Given the description of an element on the screen output the (x, y) to click on. 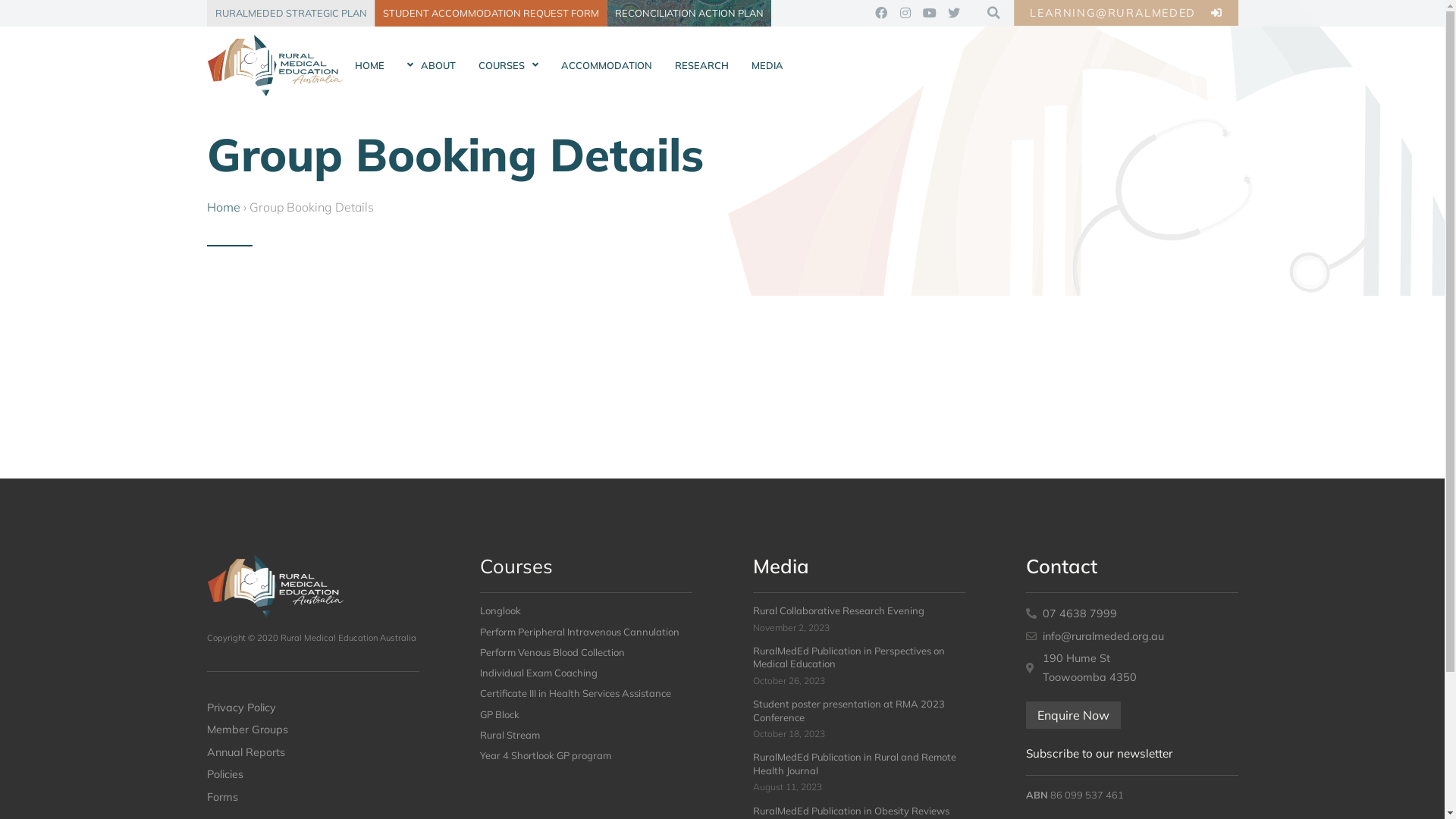
Rural Collaborative Research Evening Element type: text (837, 610)
info@ruralmeded.org.au Element type: text (1131, 636)
190 Hume St
Toowoomba 4350 Element type: text (1131, 667)
Student poster presentation at RMA 2023 Conference Element type: text (848, 709)
Perform Venous Blood Collection Element type: text (551, 652)
RESEARCH Element type: text (700, 65)
Courses Element type: text (515, 565)
RuralMedEd Publication in Obesity Reviews Element type: text (850, 810)
Individual Exam Coaching Element type: text (537, 672)
Year 4 Shortlook GP program Element type: text (544, 755)
Home Element type: text (222, 206)
Subscribe to our newsletter Element type: text (1098, 753)
Longlook Element type: text (499, 610)
RURALMEDED STRATEGIC PLAN Element type: text (289, 13)
Member Groups Element type: text (312, 729)
Perform Peripheral Intravenous Cannulation Element type: text (578, 631)
HOME Element type: text (368, 65)
Rural Stream Element type: text (509, 734)
07 4638 7999 Element type: text (1131, 613)
RuralMedEd Publication in Perspectives on Medical Education Element type: text (848, 656)
COURSES Element type: text (508, 65)
Forms Element type: text (312, 796)
Enquire Now Element type: text (1072, 714)
Policies Element type: text (312, 774)
RECONCILIATION ACTION PLAN Element type: text (688, 13)
STUDENT ACCOMMODATION REQUEST FORM Element type: text (490, 13)
MEDIA Element type: text (767, 65)
Annual Reports Element type: text (312, 752)
LEARNING@RURALMEDED Element type: text (1125, 12)
ACCOMMODATION Element type: text (605, 65)
RuralMedEd Publication in Rural and Remote Health Journal Element type: text (853, 762)
Privacy Policy Element type: text (312, 707)
GP Block Element type: text (498, 714)
Certificate III in Health Services Assistance Element type: text (574, 693)
ABOUT Element type: text (431, 65)
